Given the description of an element on the screen output the (x, y) to click on. 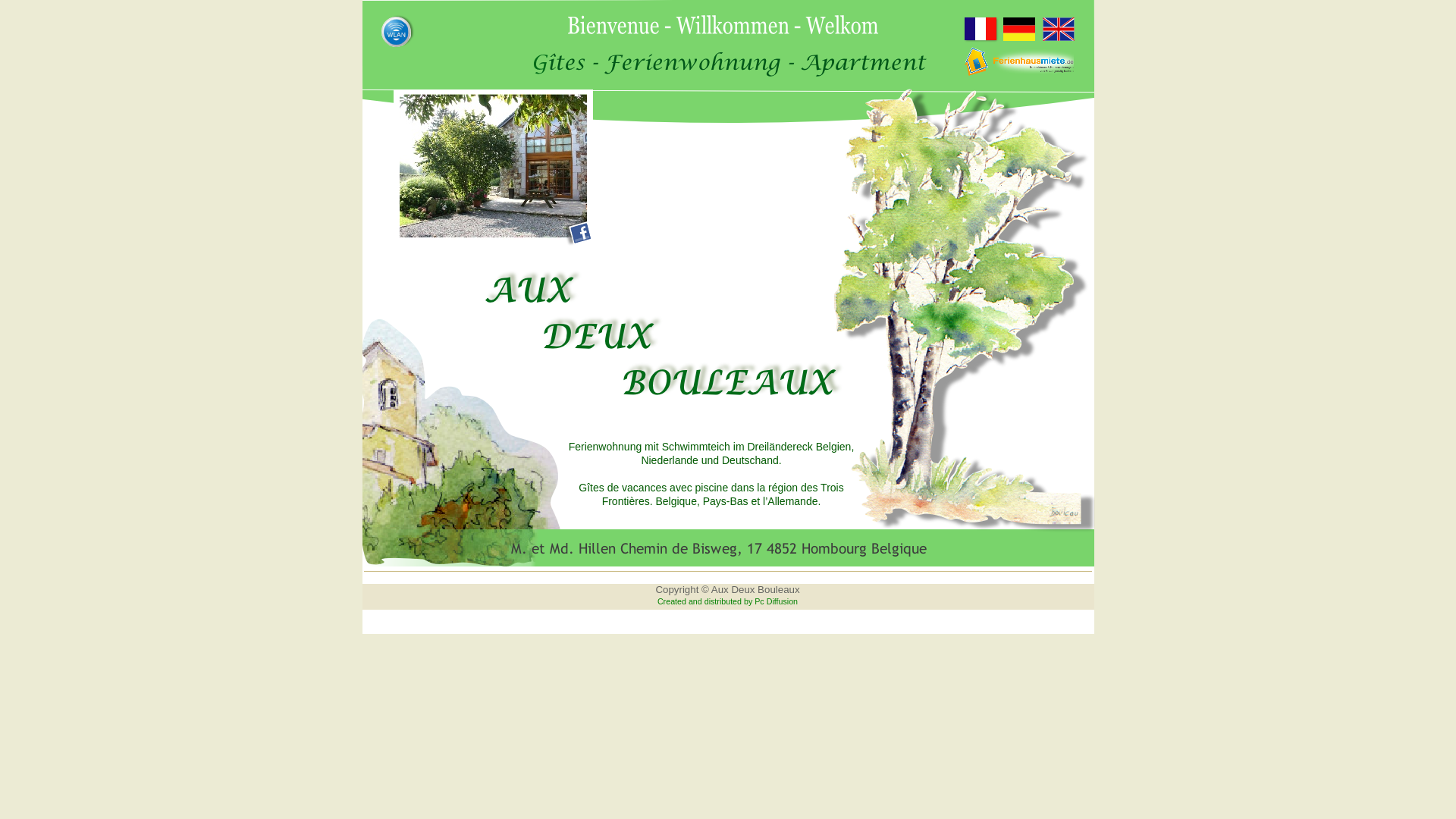
Created and distributed by Pc Diffusion Element type: text (727, 600)
